Given the description of an element on the screen output the (x, y) to click on. 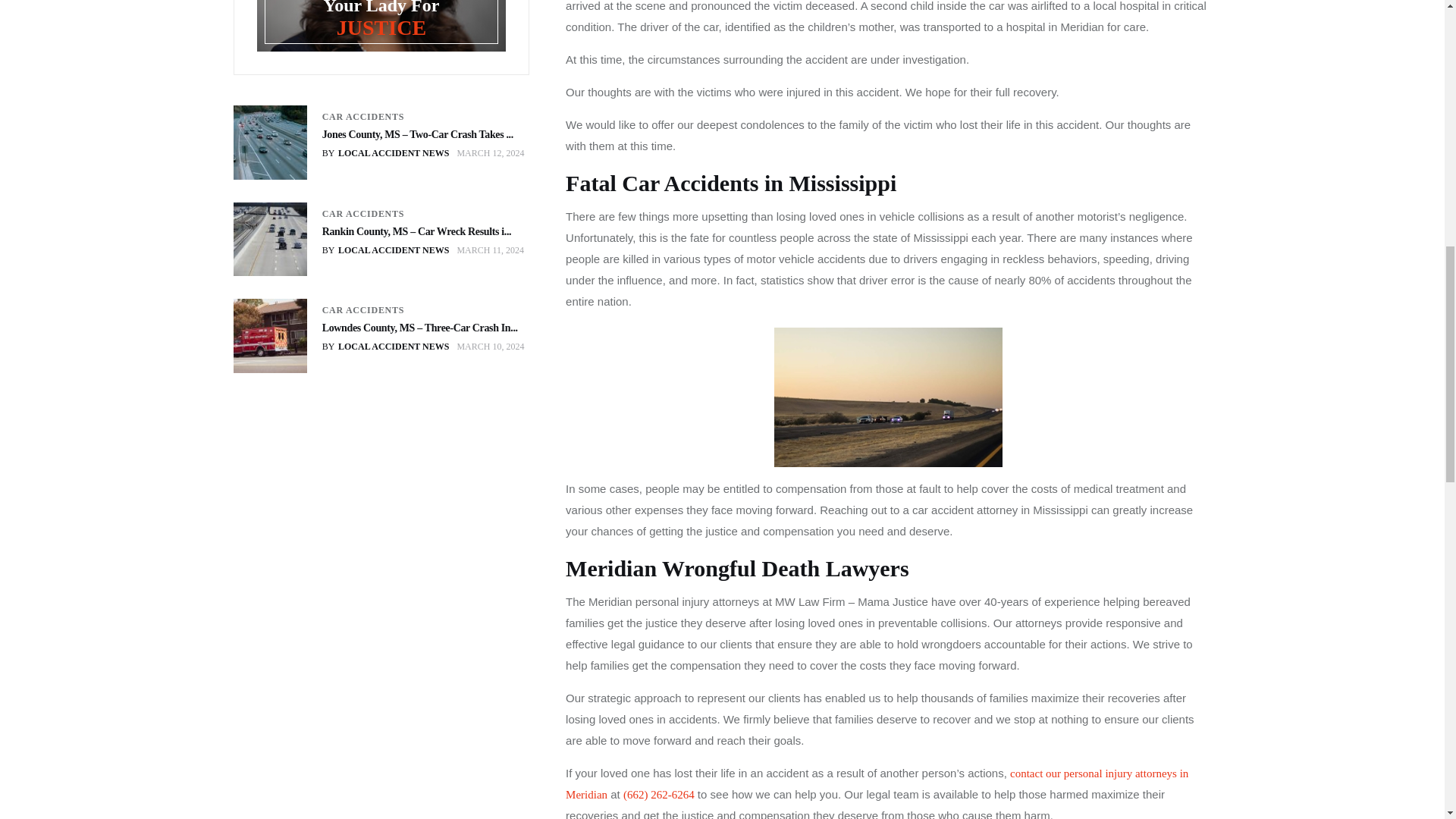
CAR ACCIDENTS (362, 213)
CAR ACCIDENTS (362, 309)
BY LOCAL ACCIDENT NEWS (385, 345)
contact our personal injury attorneys in Meridian (877, 783)
CAR ACCIDENTS (362, 116)
BY LOCAL ACCIDENT NEWS (385, 250)
BY LOCAL ACCIDENT NEWS (385, 152)
